Given the description of an element on the screen output the (x, y) to click on. 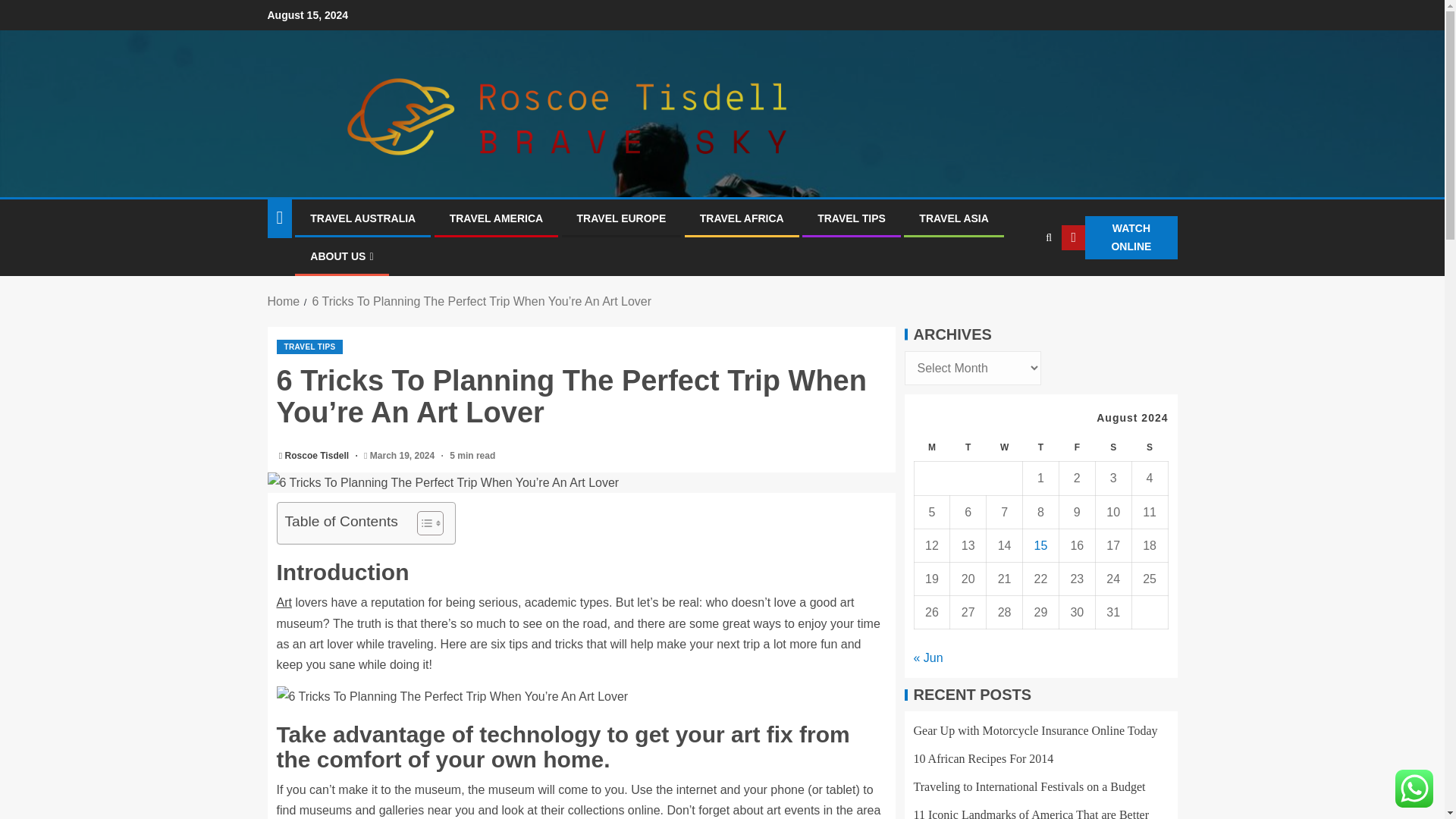
Search (1018, 284)
Home (282, 300)
TRAVEL AMERICA (496, 218)
ABOUT US (341, 256)
Roscoe Tisdell (318, 455)
Art (283, 602)
TRAVEL AUSTRALIA (362, 218)
TRAVEL ASIA (953, 218)
TRAVEL EUROPE (621, 218)
WATCH ONLINE (1118, 238)
